Given the description of an element on the screen output the (x, y) to click on. 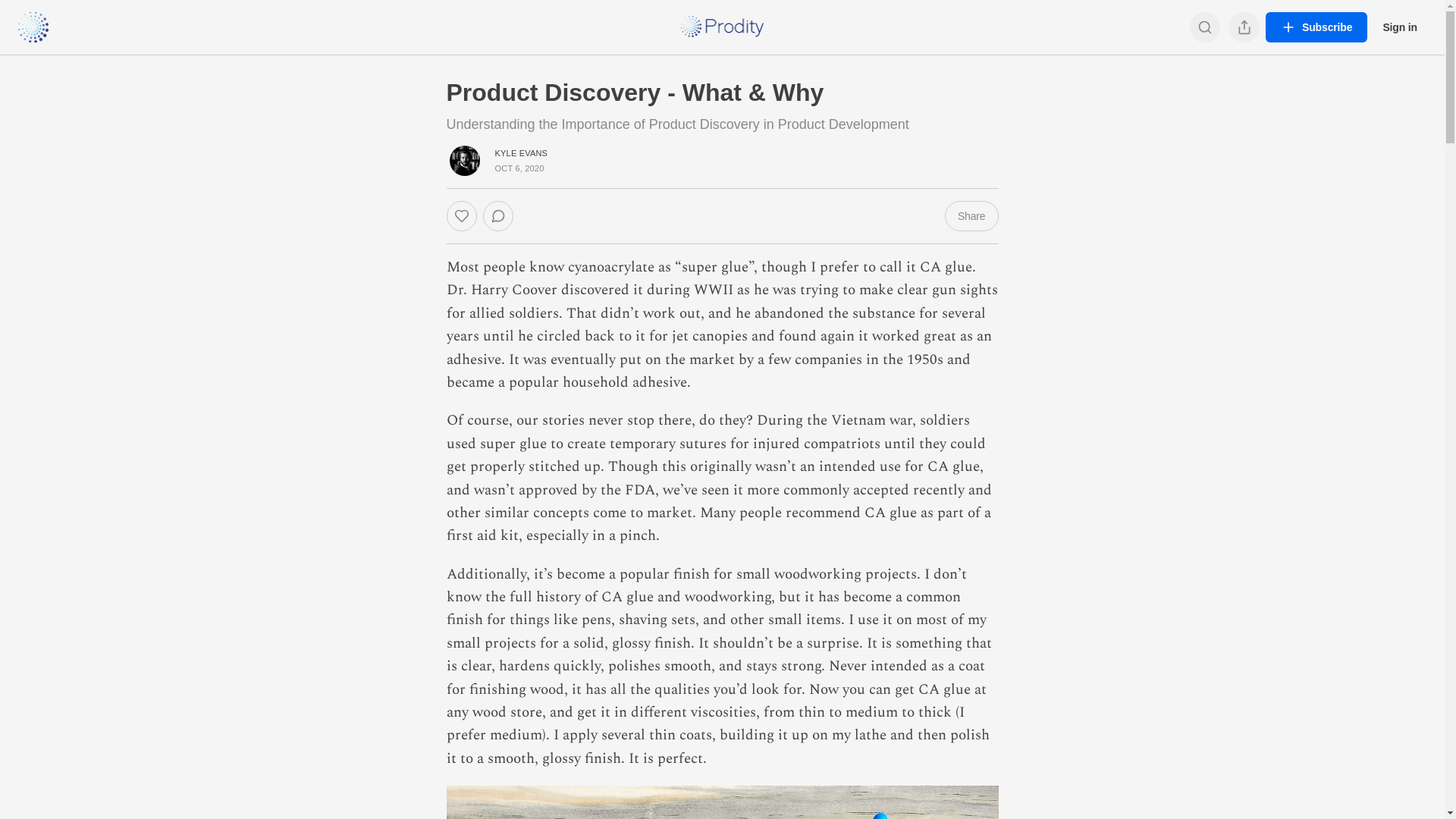
Share Element type: text (971, 215)
KYLE EVANS Element type: text (520, 152)
Subscribe Element type: text (1316, 27)
Sign in Element type: text (1399, 27)
